Given the description of an element on the screen output the (x, y) to click on. 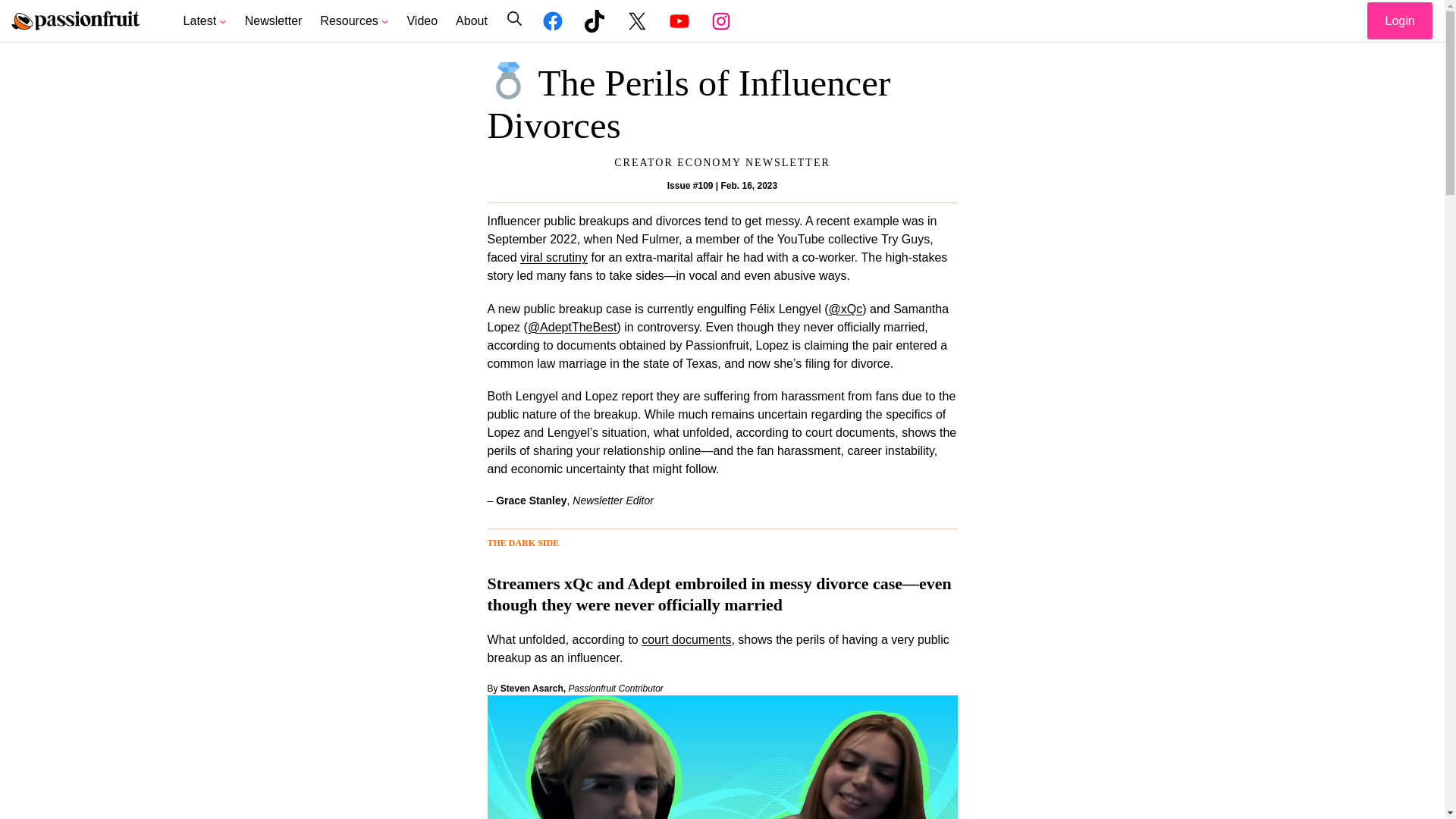
viral scrutiny (553, 256)
About (471, 21)
X (636, 20)
Newsletter (273, 21)
YouTube (679, 20)
Facebook (552, 20)
Latest (199, 21)
court documents (686, 639)
Video (422, 21)
Login (1399, 20)
Resources (348, 21)
TikTok (594, 20)
Instagram (721, 20)
